Given the description of an element on the screen output the (x, y) to click on. 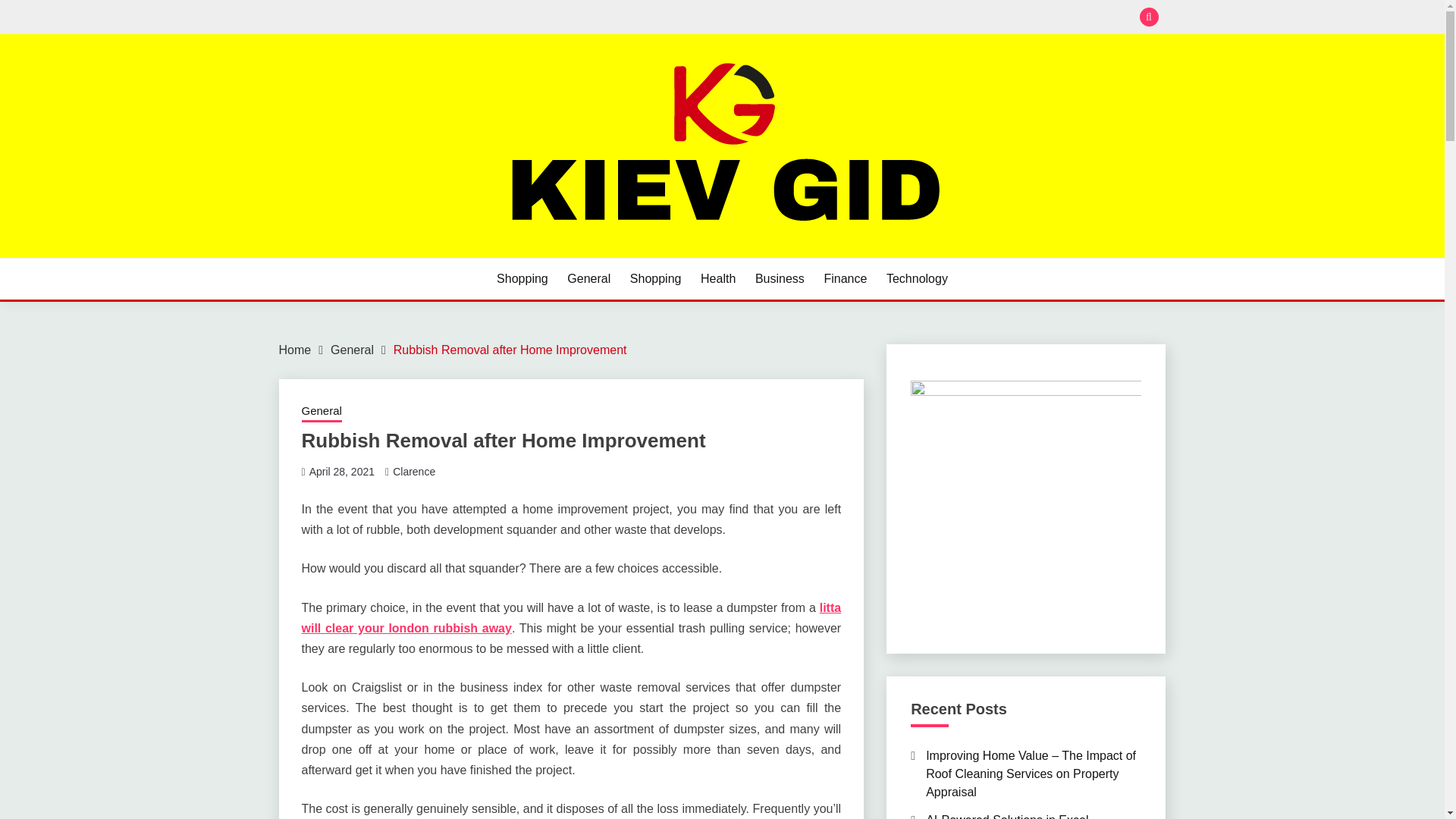
Search (832, 18)
General (352, 349)
General (588, 279)
Shopping (522, 279)
Finance (845, 279)
KIEV GID (340, 255)
Shopping (655, 279)
Technology (916, 279)
April 28, 2021 (341, 471)
Clarence (414, 471)
